Given the description of an element on the screen output the (x, y) to click on. 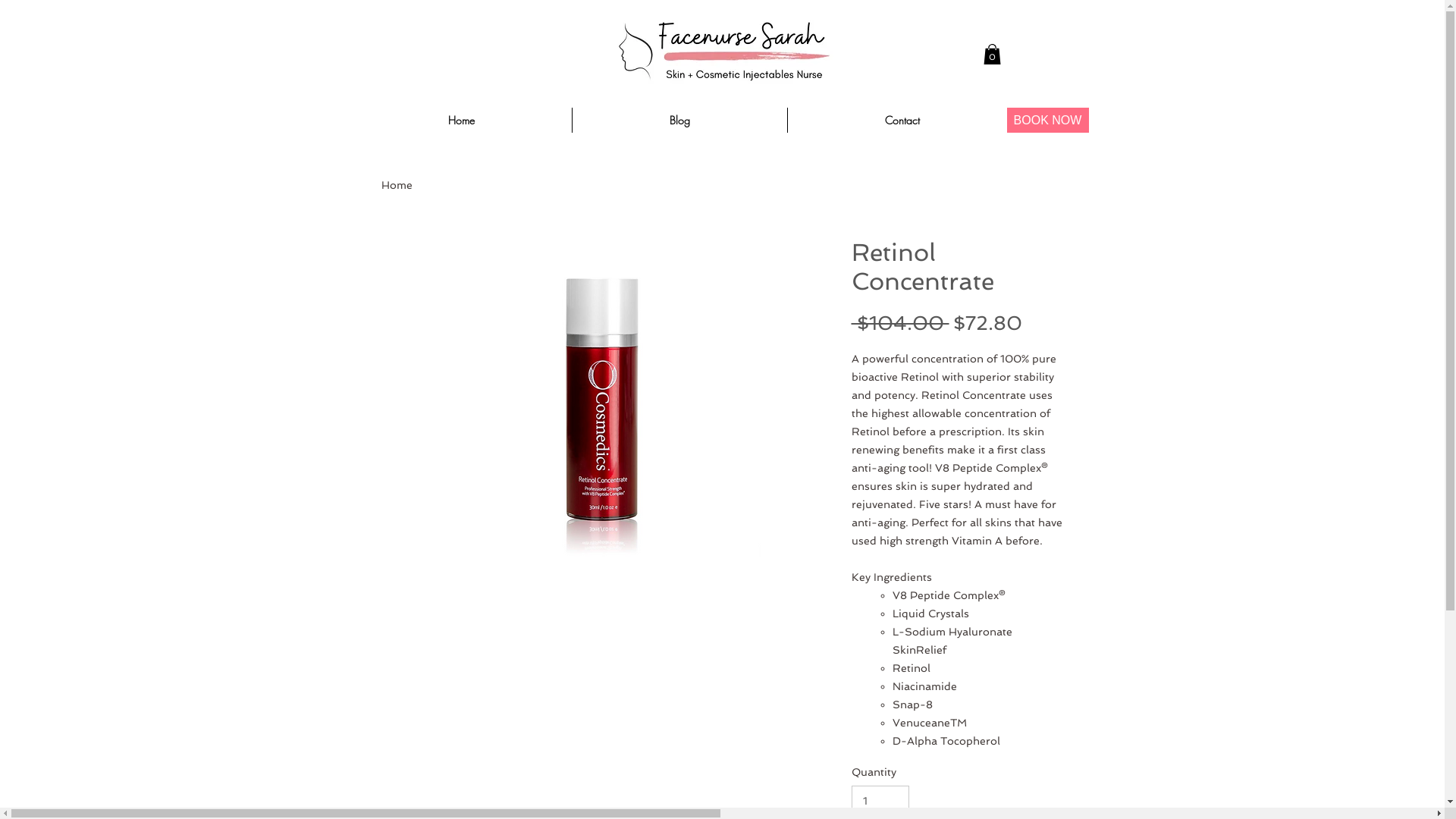
Contact Element type: text (901, 119)
Home Element type: text (460, 119)
BOOK NOW Element type: text (1047, 119)
Home Element type: text (395, 184)
Blog Element type: text (678, 119)
0 Element type: text (991, 53)
89BAB9F2-CBDA-4A5E-A8A4-3EAF0C19232B.png Element type: hover (722, 54)
